Given the description of an element on the screen output the (x, y) to click on. 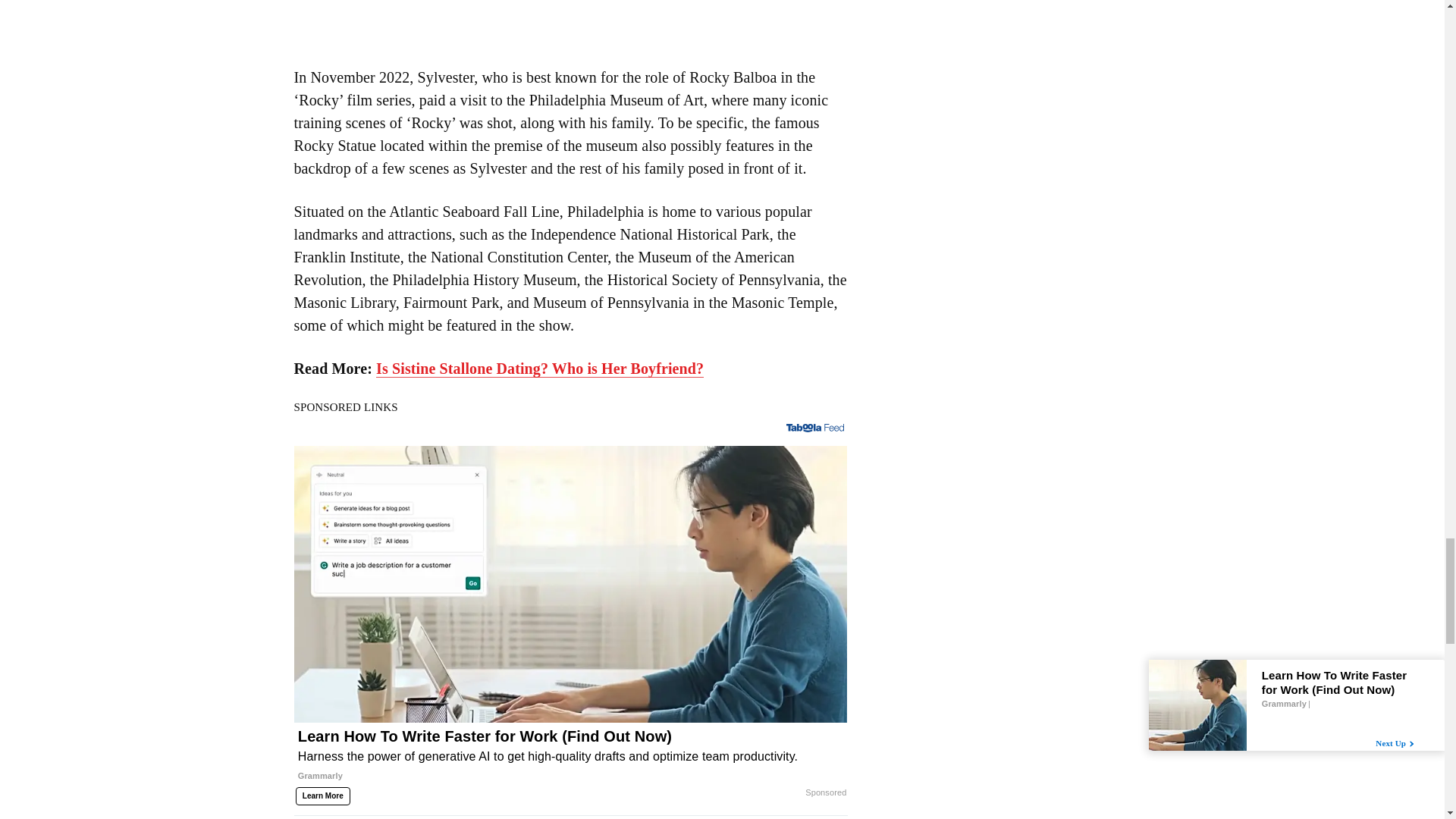
Is Sistine Stallone Dating? Who is Her Boyfriend? (539, 368)
Sponsored (825, 792)
